Given the description of an element on the screen output the (x, y) to click on. 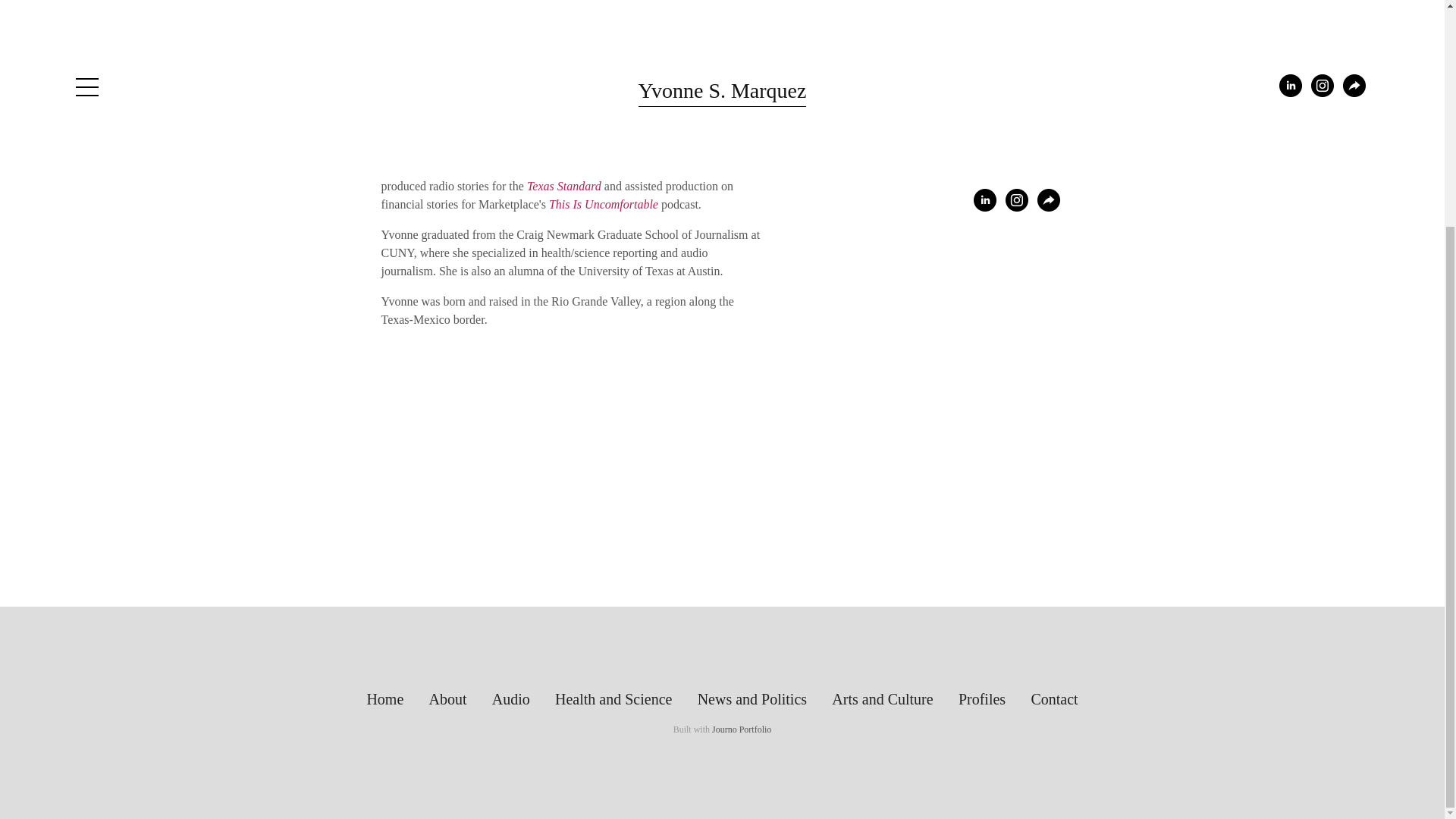
The Guardian (542, 149)
The Dallas Morning News (527, 167)
Refinery 29 (639, 149)
Autostraddle (584, 28)
Texas Monthly (709, 149)
Health and Science (612, 699)
In These Times (653, 167)
Audio (510, 699)
This Is Uncomfortable (603, 204)
Journo Portfolio (741, 728)
Profiles (981, 699)
News and Politics (751, 699)
Home (384, 699)
About (448, 699)
Arts and Culture (882, 699)
